Given the description of an element on the screen output the (x, y) to click on. 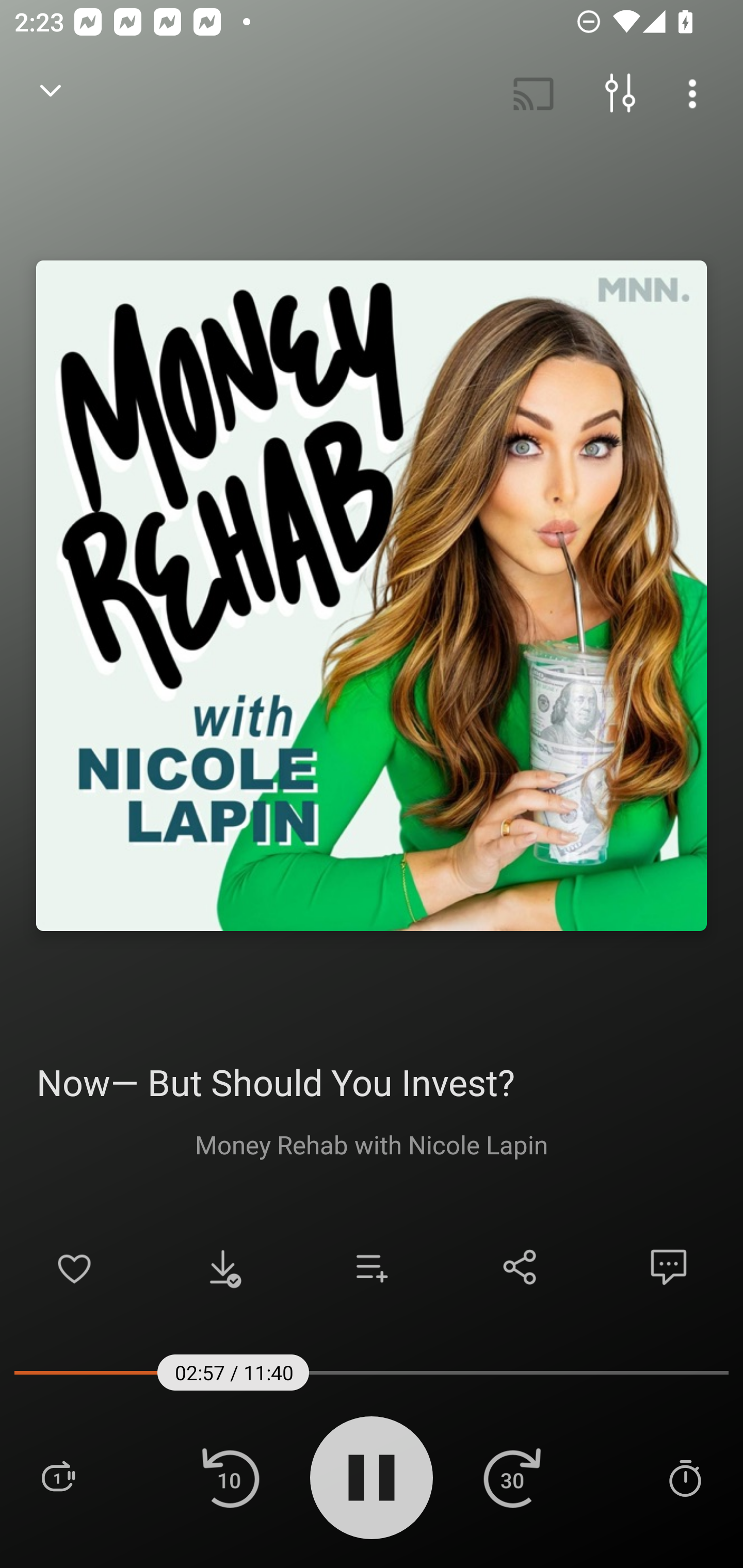
Cast. Disconnected (533, 93)
 Back (50, 94)
Money Rehab with Nicole Lapin (371, 1144)
Comments (668, 1266)
Add to Favorites (73, 1266)
Add to playlist (371, 1266)
Share (519, 1266)
 Playlist (57, 1477)
Sleep Timer  (684, 1477)
